Given the description of an element on the screen output the (x, y) to click on. 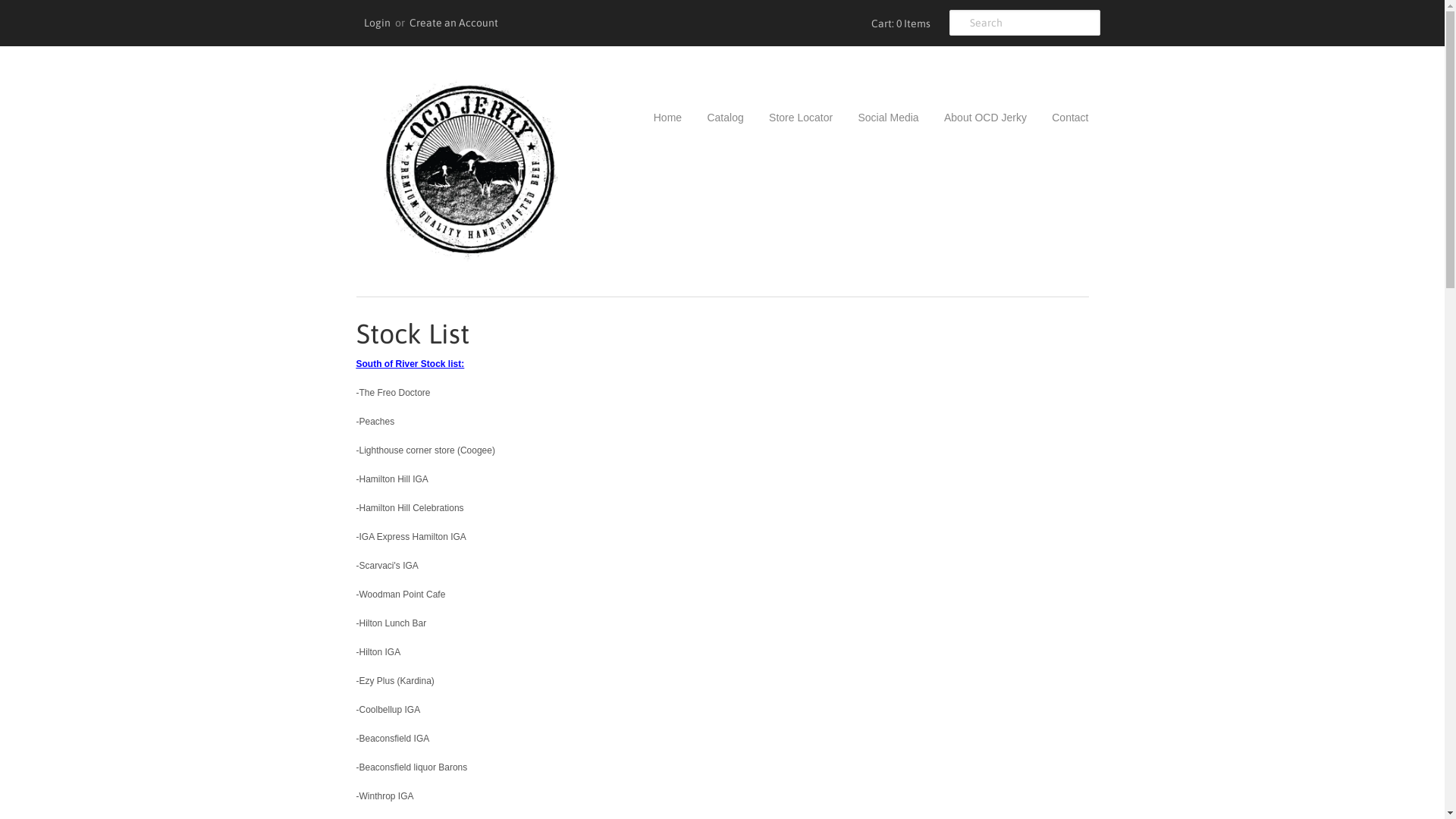
Create an Account Element type: text (453, 22)
Home Element type: text (667, 117)
Social Media Element type: text (876, 117)
Contact Element type: text (1058, 117)
Cart: 0 Items Element type: text (897, 23)
Store Locator Element type: text (789, 117)
Catalog Element type: text (713, 117)
About OCD Jerky Element type: text (973, 117)
Login Element type: text (377, 22)
